Given the description of an element on the screen output the (x, y) to click on. 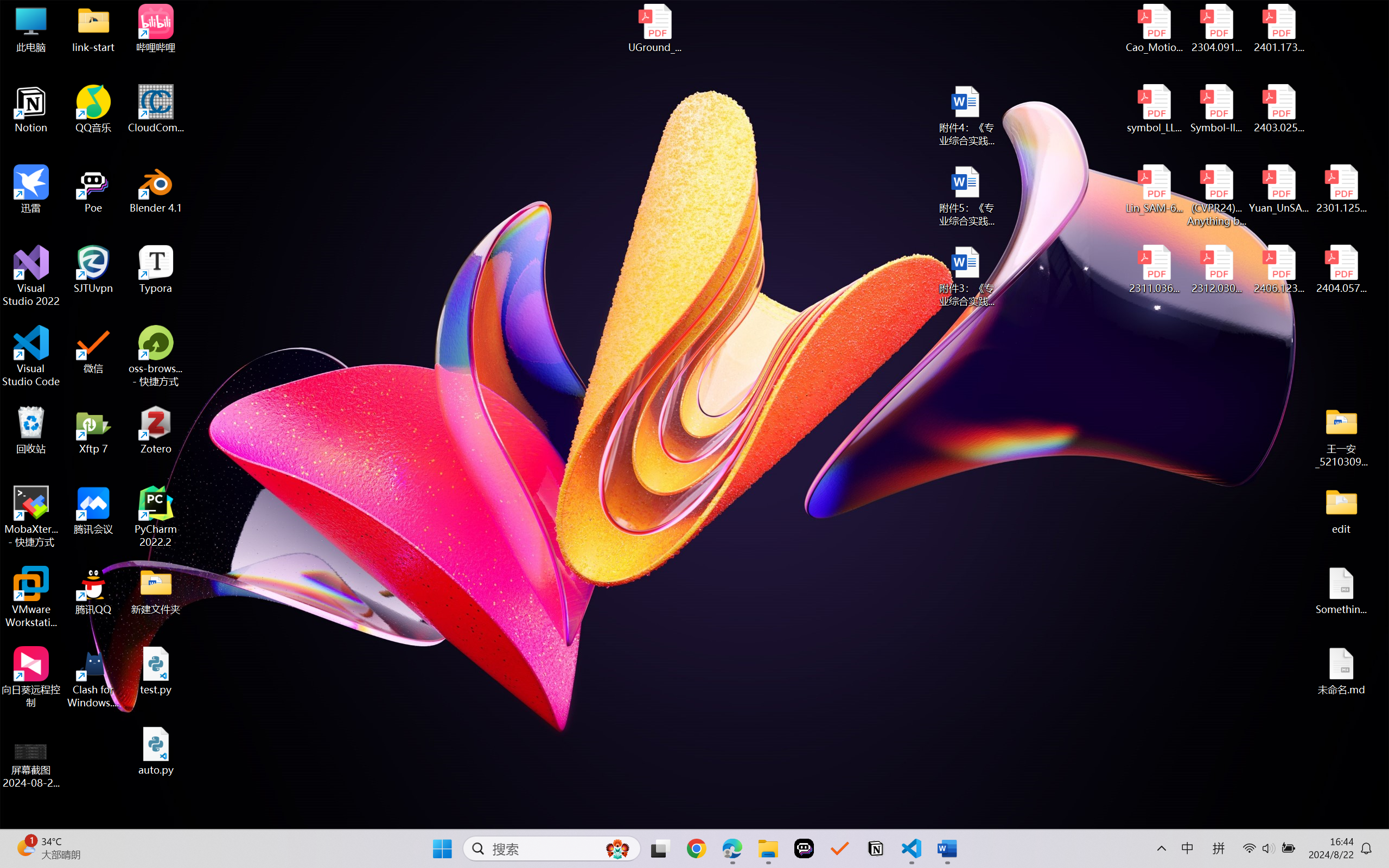
Xftp 7 (93, 430)
edit (1340, 510)
Visual Studio Code (31, 355)
2311.03658v2.pdf (1154, 269)
test.py (156, 670)
PyCharm 2022.2 (156, 516)
2304.09121v3.pdf (1216, 28)
